Given the description of an element on the screen output the (x, y) to click on. 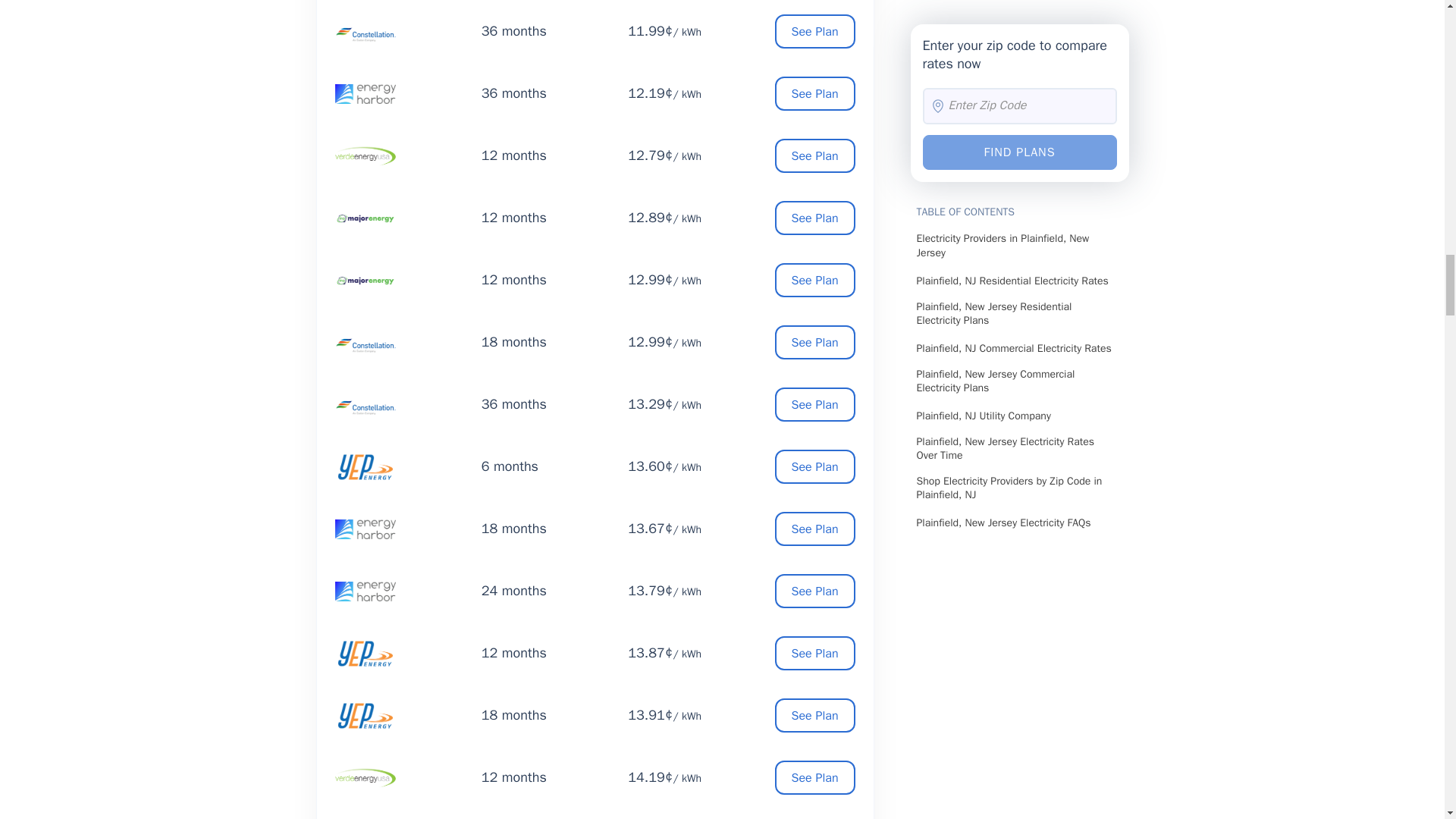
See Plan (815, 155)
See Plan (815, 217)
See Plan (815, 31)
See Plan (815, 93)
